Given the description of an element on the screen output the (x, y) to click on. 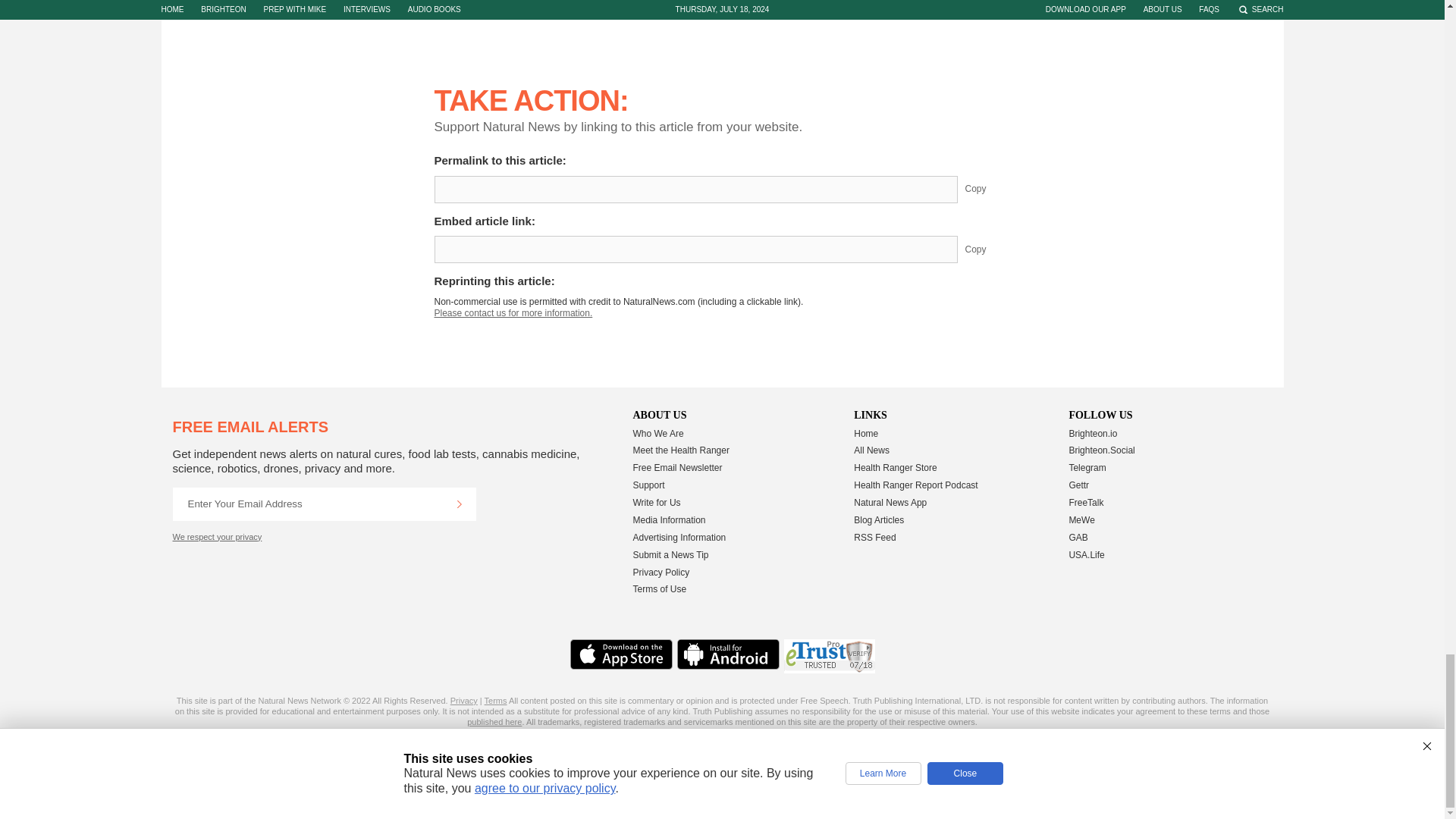
eTrust Pro Certified (829, 656)
Copy Embed Link (986, 248)
Continue (459, 503)
Copy Permalink (986, 189)
